Given the description of an element on the screen output the (x, y) to click on. 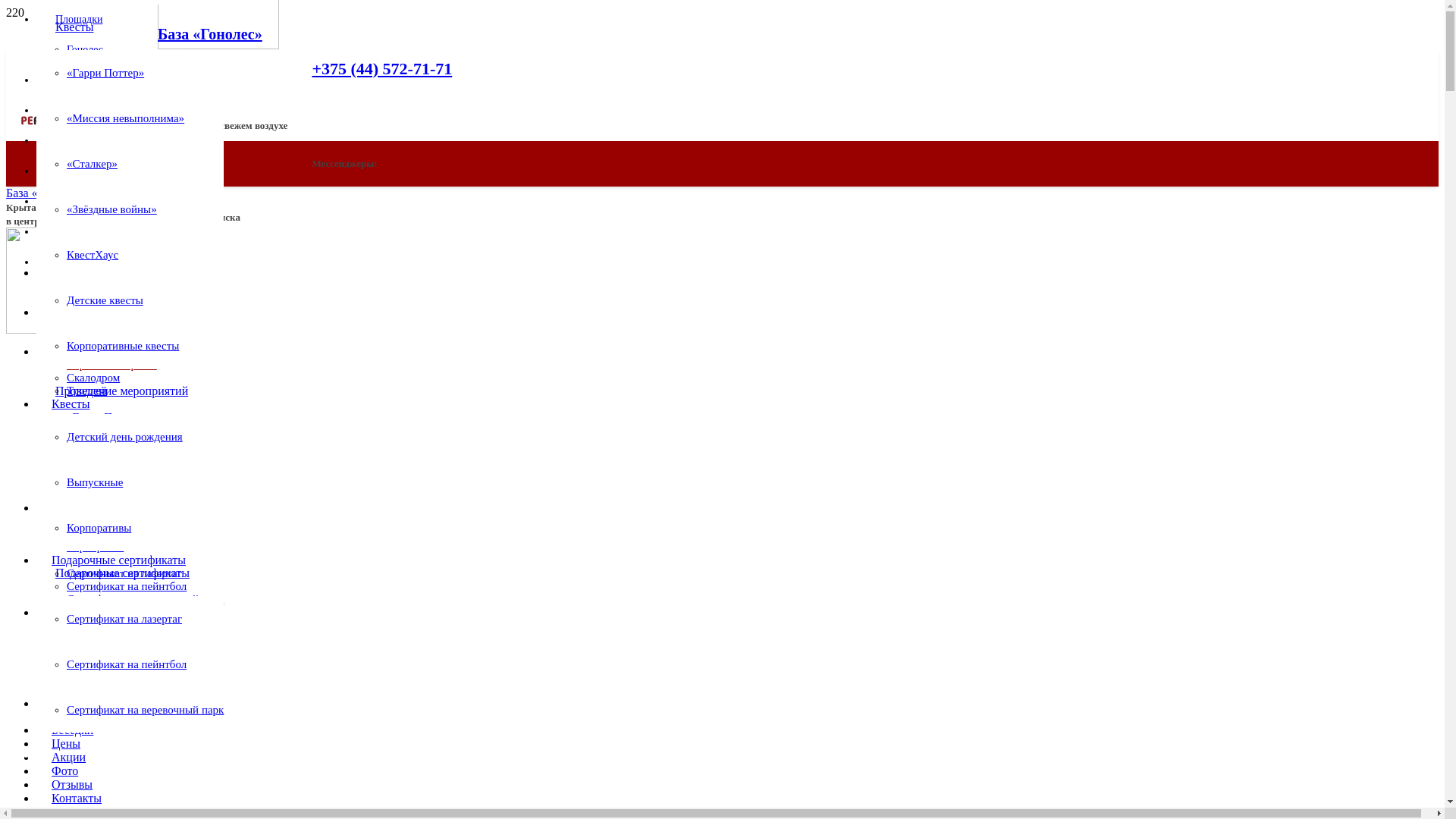
+375 (44) 572-71-71 Element type: text (381, 68)
